Given the description of an element on the screen output the (x, y) to click on. 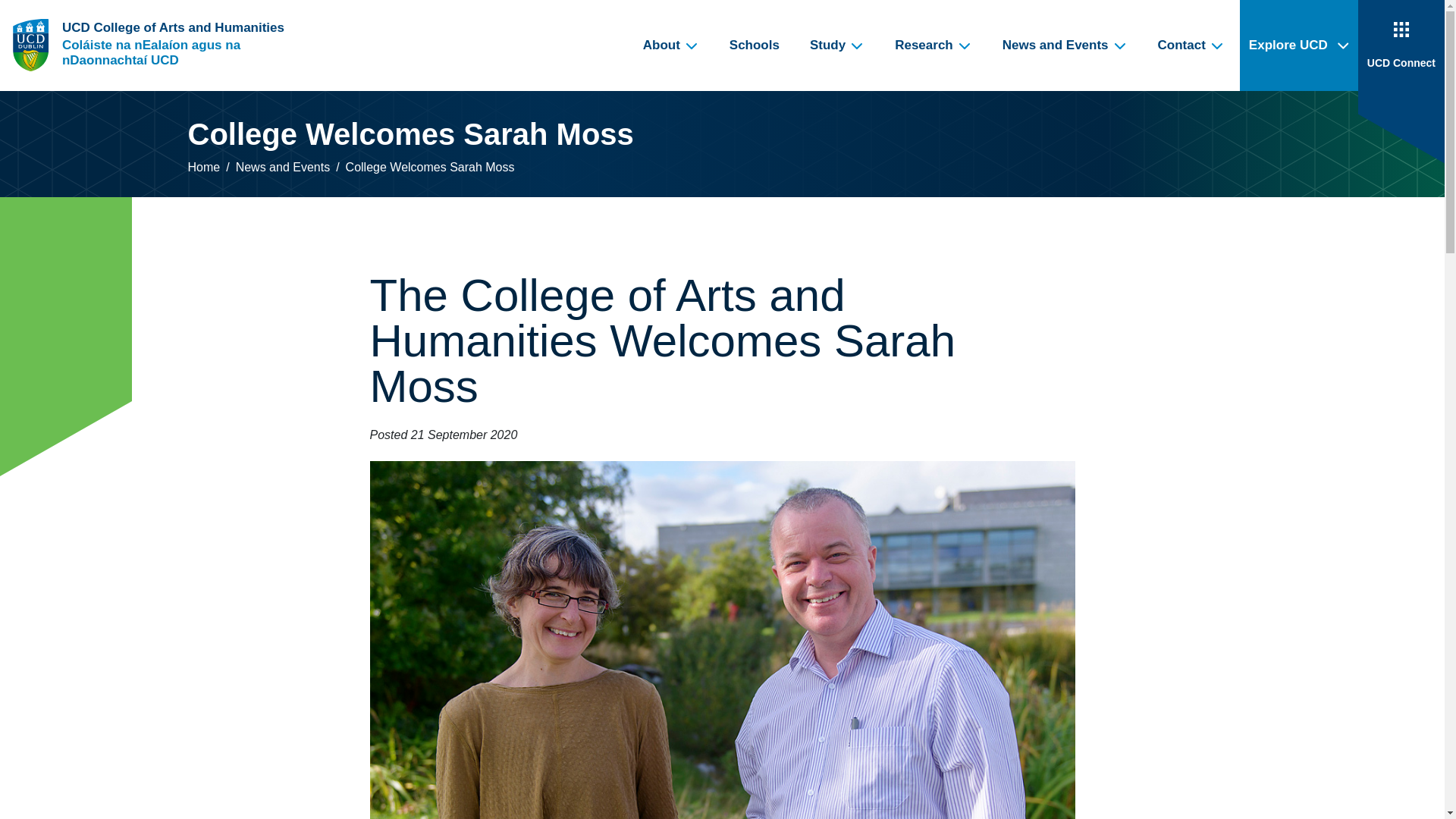
Research (933, 45)
Schools (754, 45)
Go to 'Explore' page (1299, 45)
About (670, 45)
News and Events (1064, 45)
Go to 'Home' page (162, 45)
Study (836, 45)
